Given the description of an element on the screen output the (x, y) to click on. 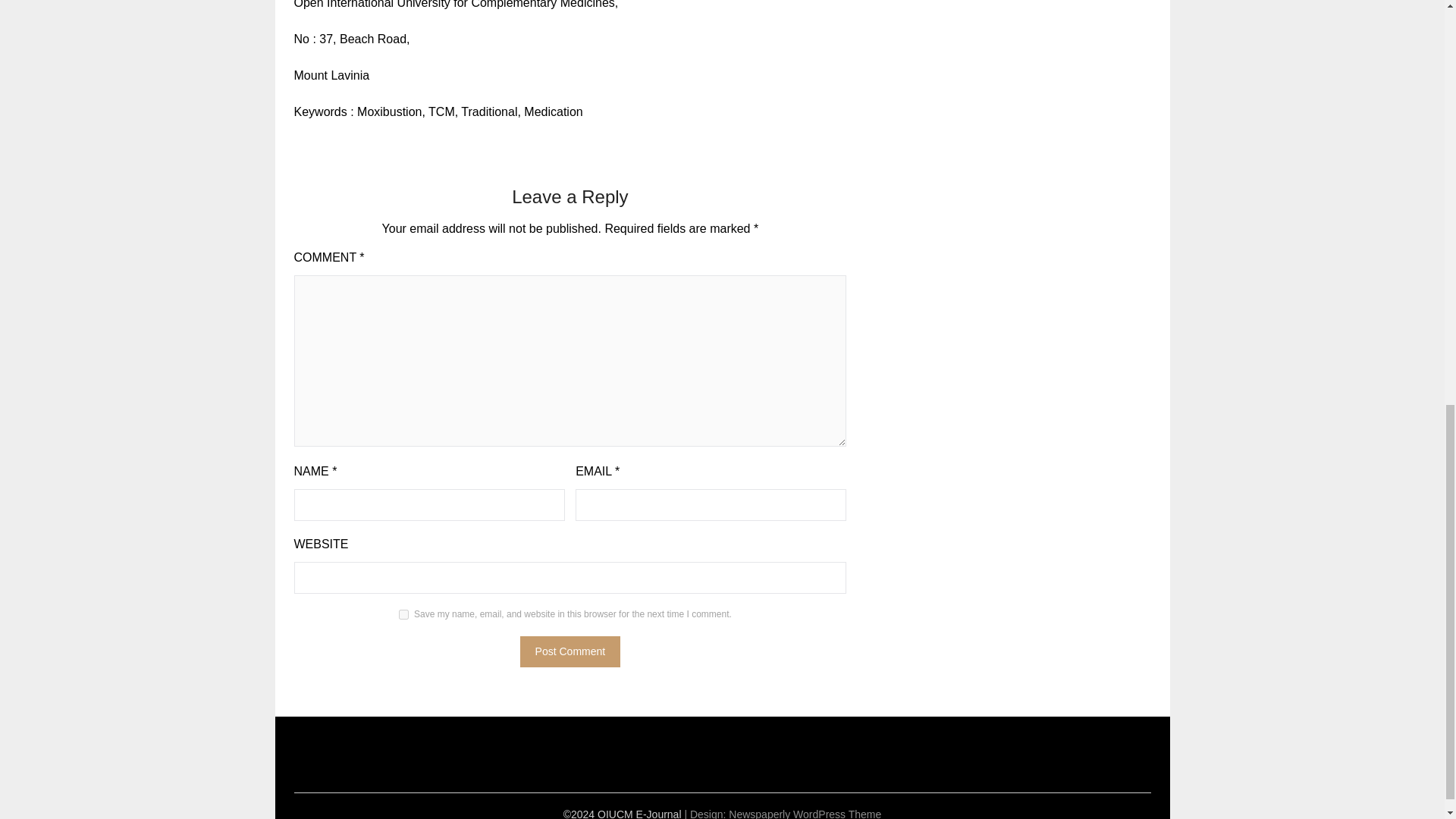
Newspaperly WordPress Theme (804, 813)
Post Comment (570, 650)
Post Comment (570, 650)
yes (403, 614)
